Given the description of an element on the screen output the (x, y) to click on. 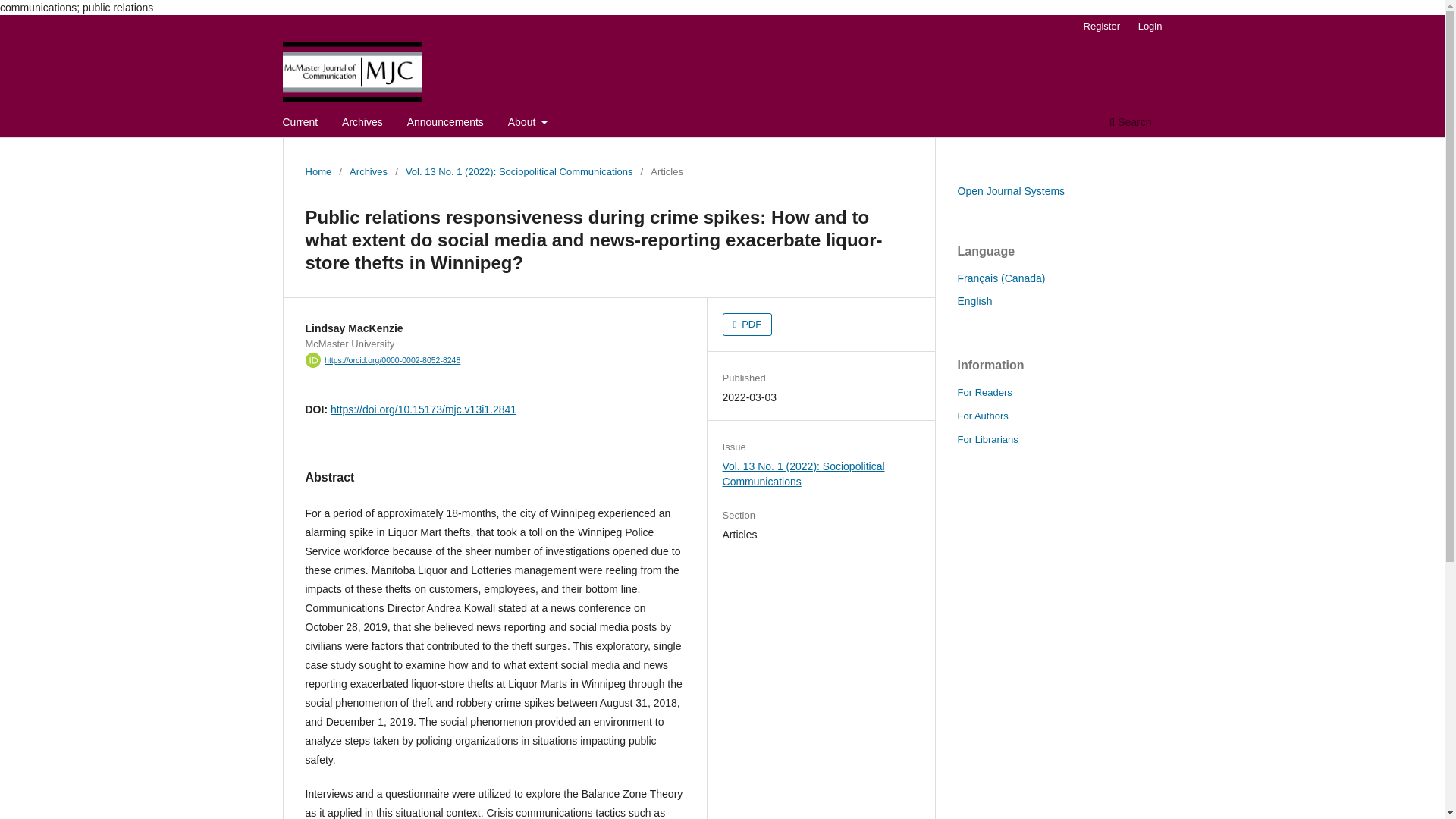
PDF (747, 323)
About (527, 123)
Announcements (445, 123)
Login (1150, 26)
For Authors (981, 415)
For Librarians (986, 439)
Archives (368, 171)
Open Journal Systems (1010, 191)
Archives (362, 123)
Search (1129, 123)
Register (1100, 26)
Current (300, 123)
Home (317, 171)
English (973, 300)
For Readers (983, 392)
